Given the description of an element on the screen output the (x, y) to click on. 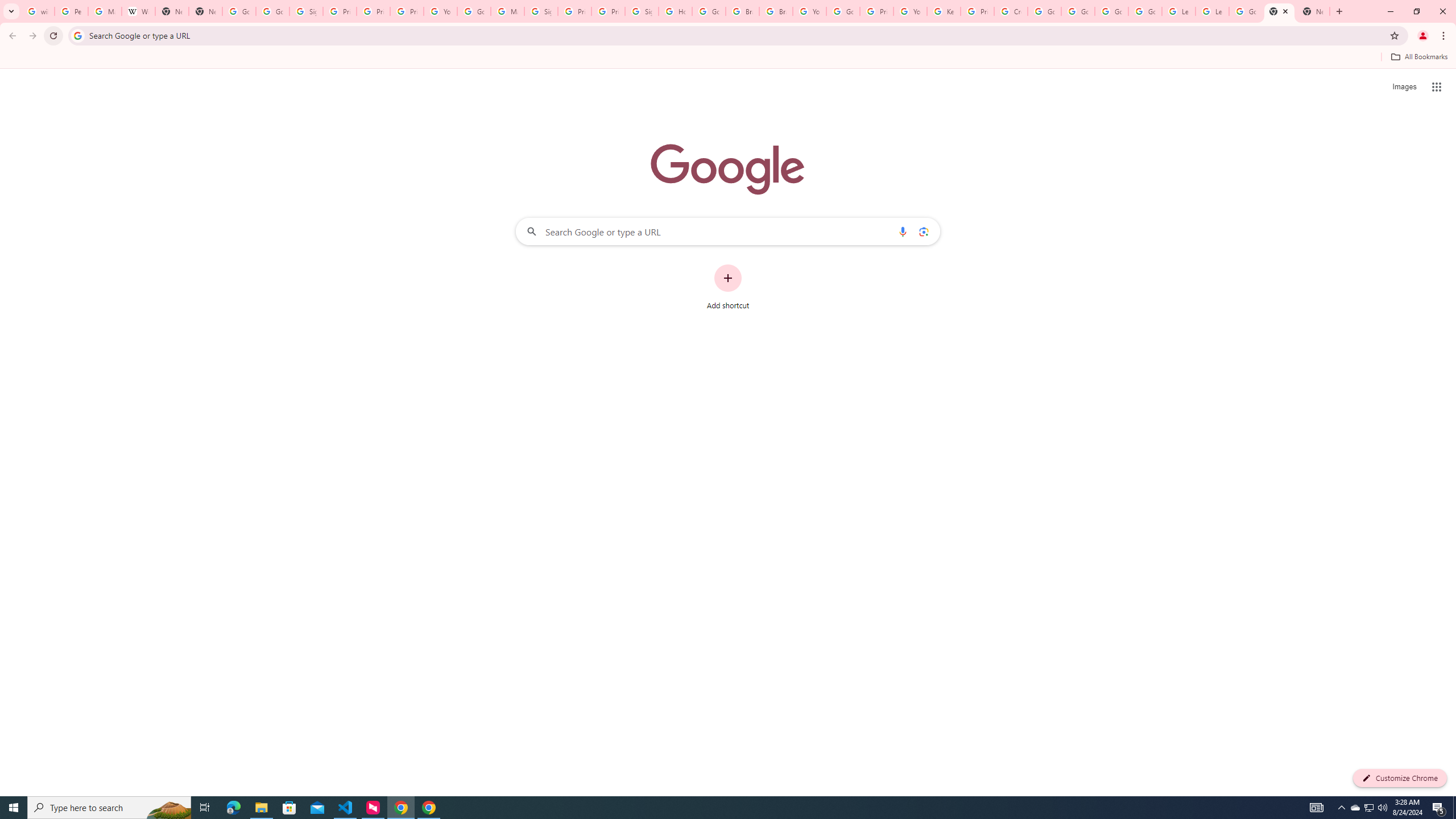
Brand Resource Center (742, 11)
Personalization & Google Search results - Google Search Help (71, 11)
Google Account Help (1144, 11)
Google Account (1246, 11)
Sign in - Google Accounts (641, 11)
